Given the description of an element on the screen output the (x, y) to click on. 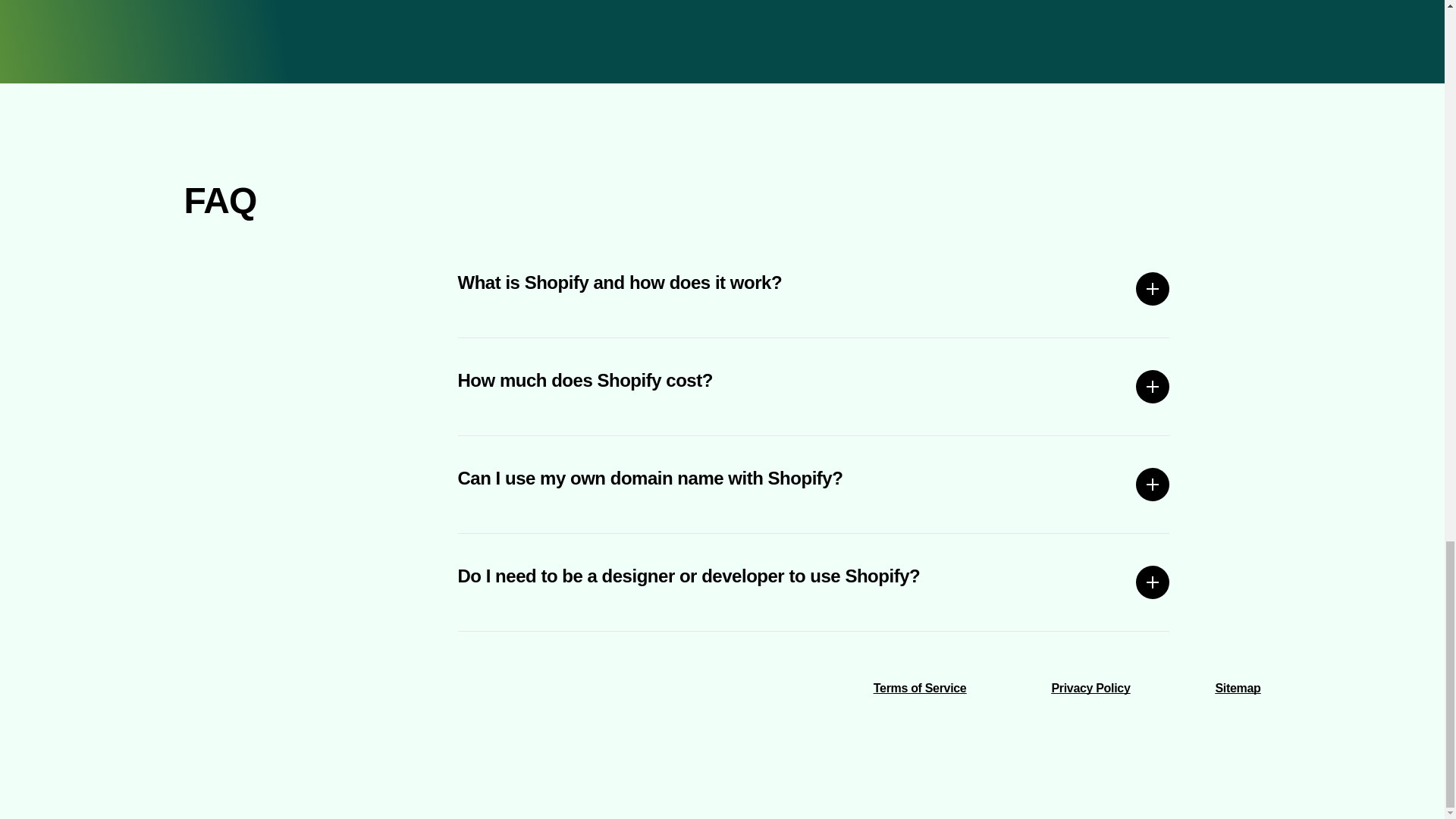
How much does Shopify cost? (814, 386)
What is Shopify and how does it work? (814, 289)
Terms of Service (919, 687)
Sitemap (1237, 687)
Can I use my own domain name with Shopify? (814, 484)
Privacy Policy (1090, 687)
Do I need to be a designer or developer to use Shopify? (814, 582)
